Given the description of an element on the screen output the (x, y) to click on. 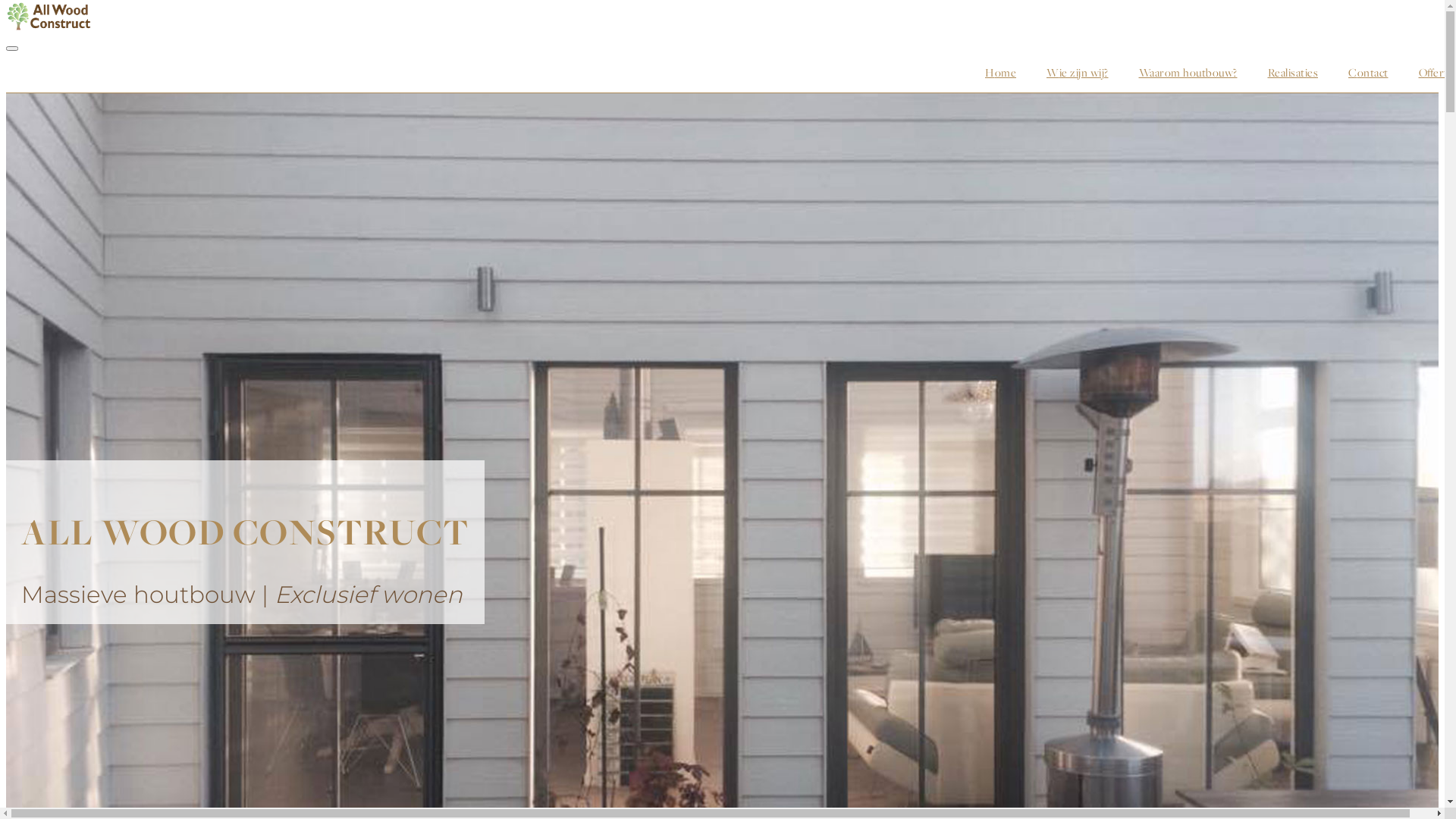
contact Element type: text (1368, 72)
waarom houtbouw? Element type: text (1187, 72)
wie zijn wij? Element type: text (1077, 72)
realisaties Element type: text (1292, 72)
home Element type: text (1000, 72)
